Given the description of an element on the screen output the (x, y) to click on. 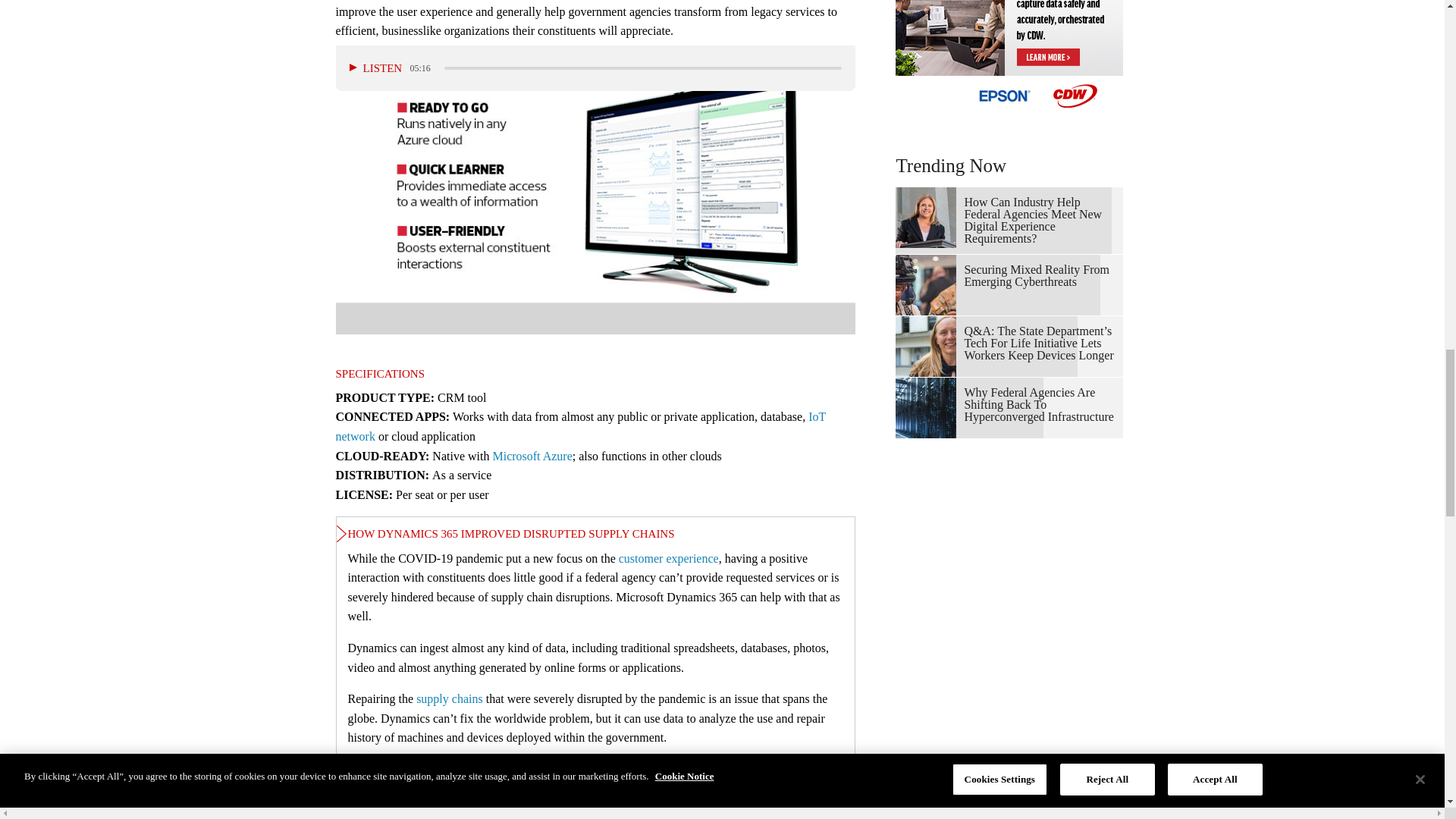
advertisement (1008, 58)
